Given the description of an element on the screen output the (x, y) to click on. 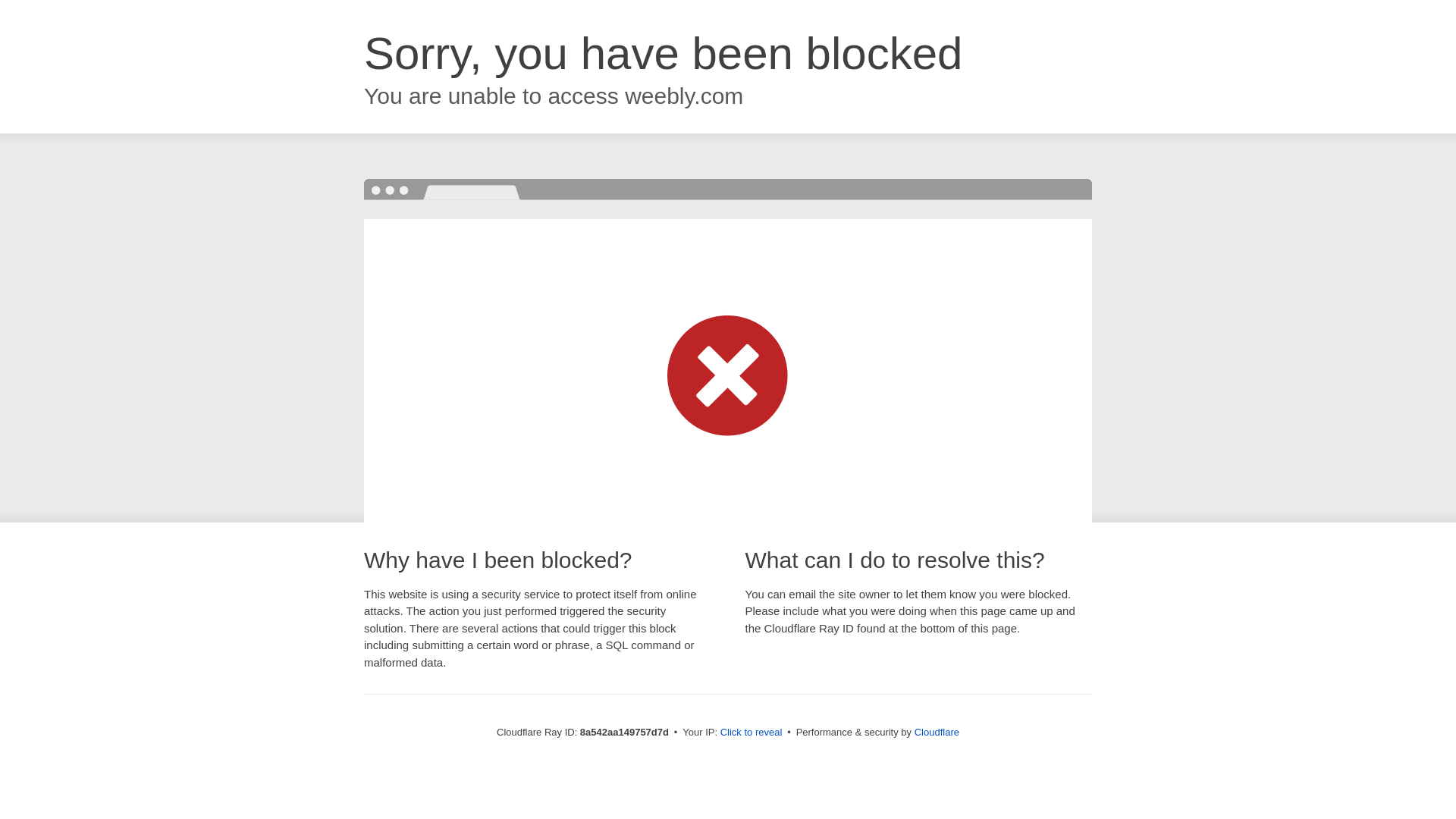
Click to reveal (751, 732)
Cloudflare (936, 731)
